Given the description of an element on the screen output the (x, y) to click on. 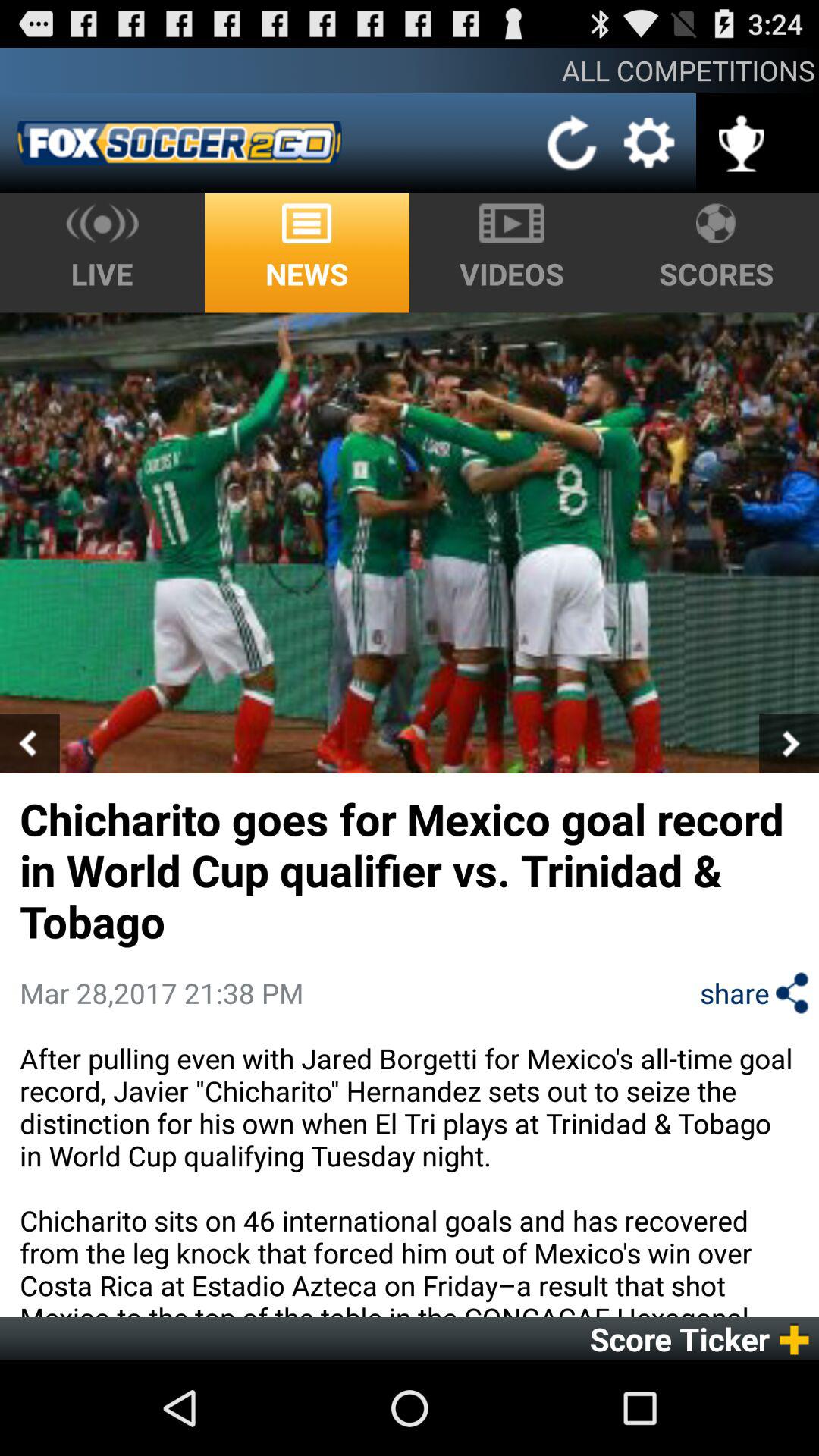
swipe until after pulling even app (409, 1178)
